Given the description of an element on the screen output the (x, y) to click on. 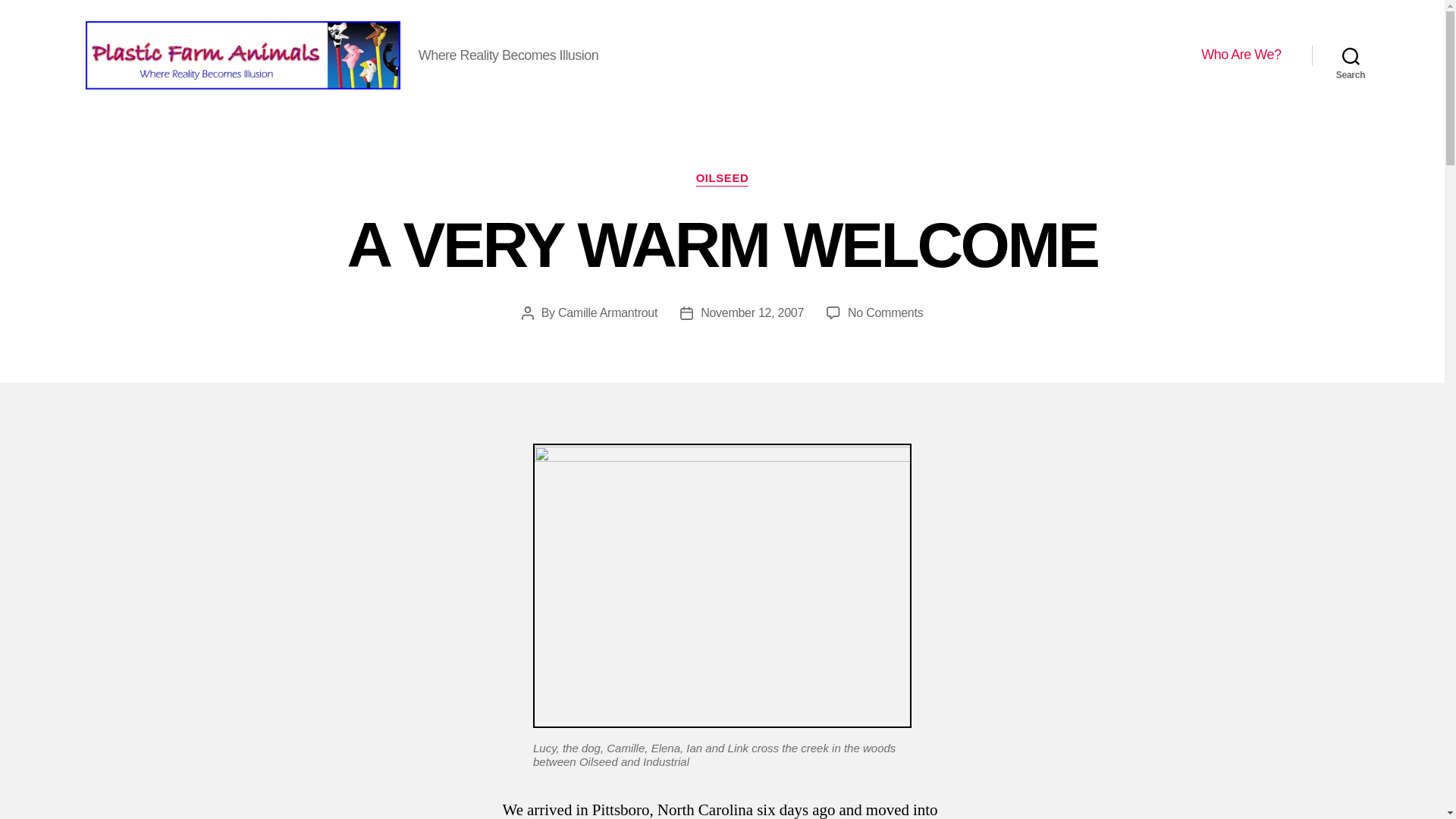
OILSEED (722, 178)
Who Are We? (1241, 54)
MoncureWoods (885, 312)
Search (721, 585)
November 12, 2007 (1350, 55)
Camille Armantrout (751, 312)
